Given the description of an element on the screen output the (x, y) to click on. 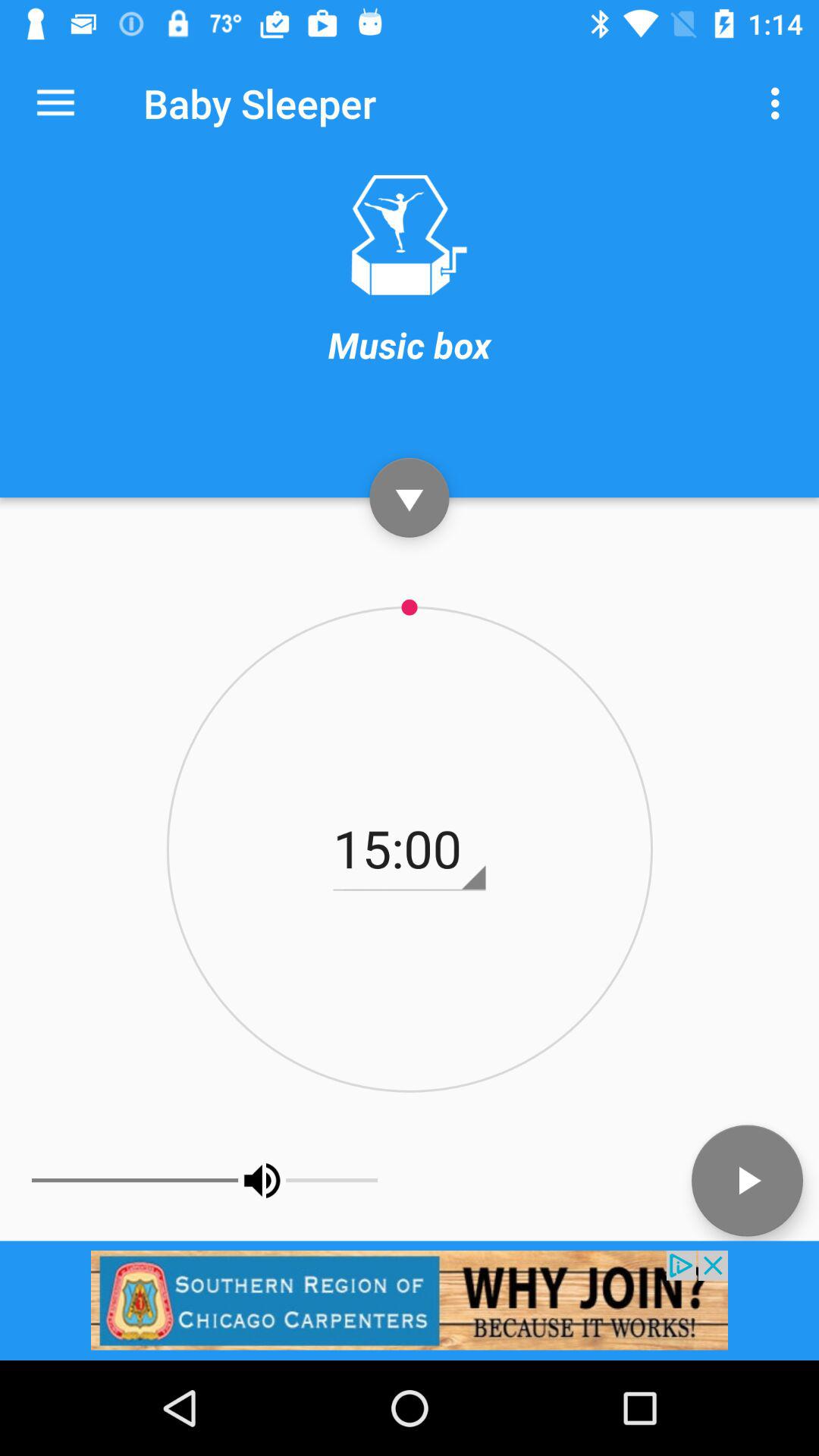
open music (409, 235)
